Given the description of an element on the screen output the (x, y) to click on. 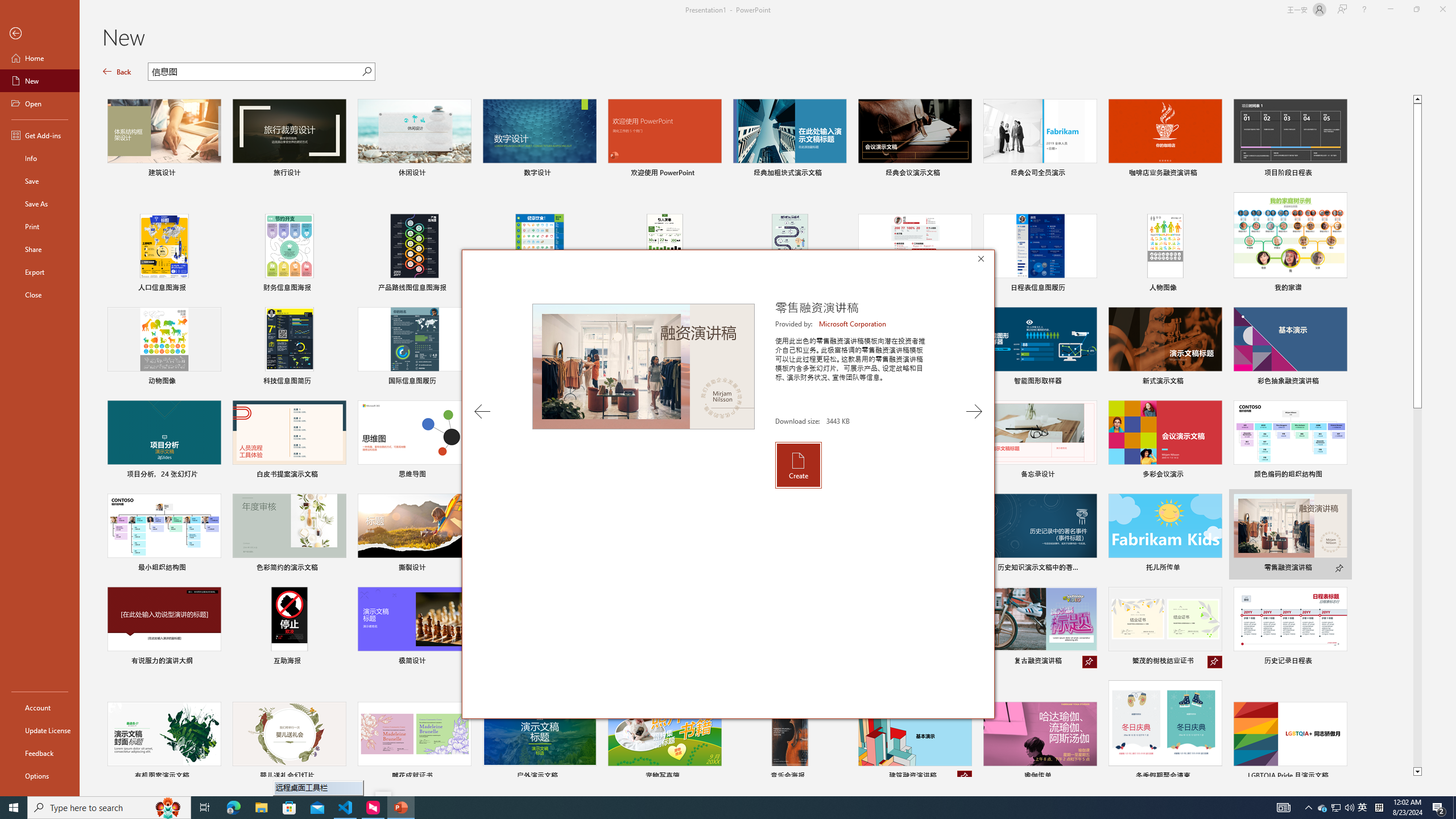
Export (40, 271)
Unpin from list (964, 776)
